Given the description of an element on the screen output the (x, y) to click on. 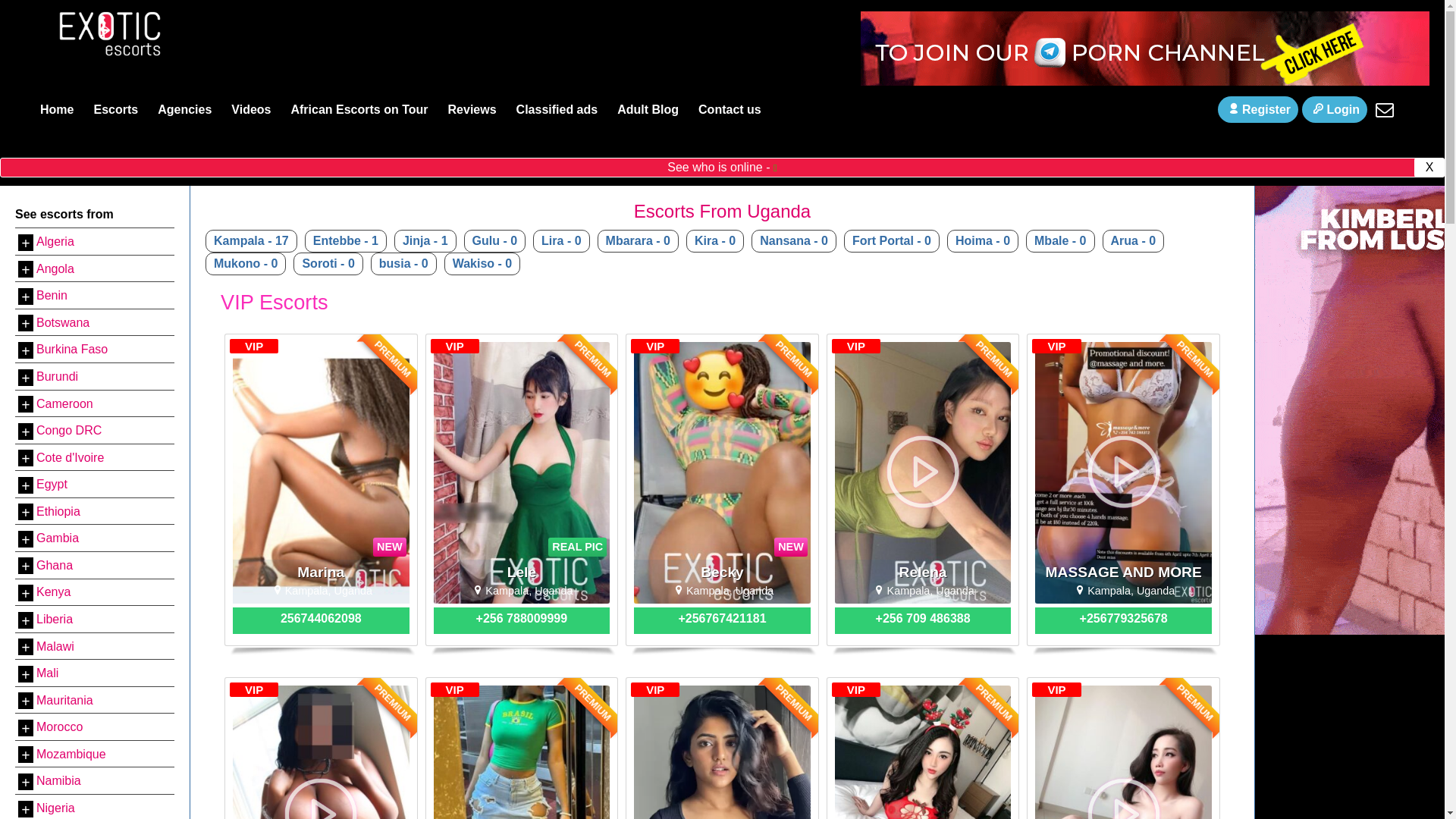
Relena (922, 572)
Marina (320, 572)
African Escorts on Tour (359, 110)
Adult Blog (647, 110)
Contact Us (1384, 109)
MASSAGE AND MORE (1123, 572)
Videos (251, 110)
Home (56, 110)
Login (1334, 109)
Lele (522, 572)
Meera (721, 752)
Agencies (184, 110)
Reviews (472, 110)
Register (1257, 109)
Contact us (729, 110)
